Given the description of an element on the screen output the (x, y) to click on. 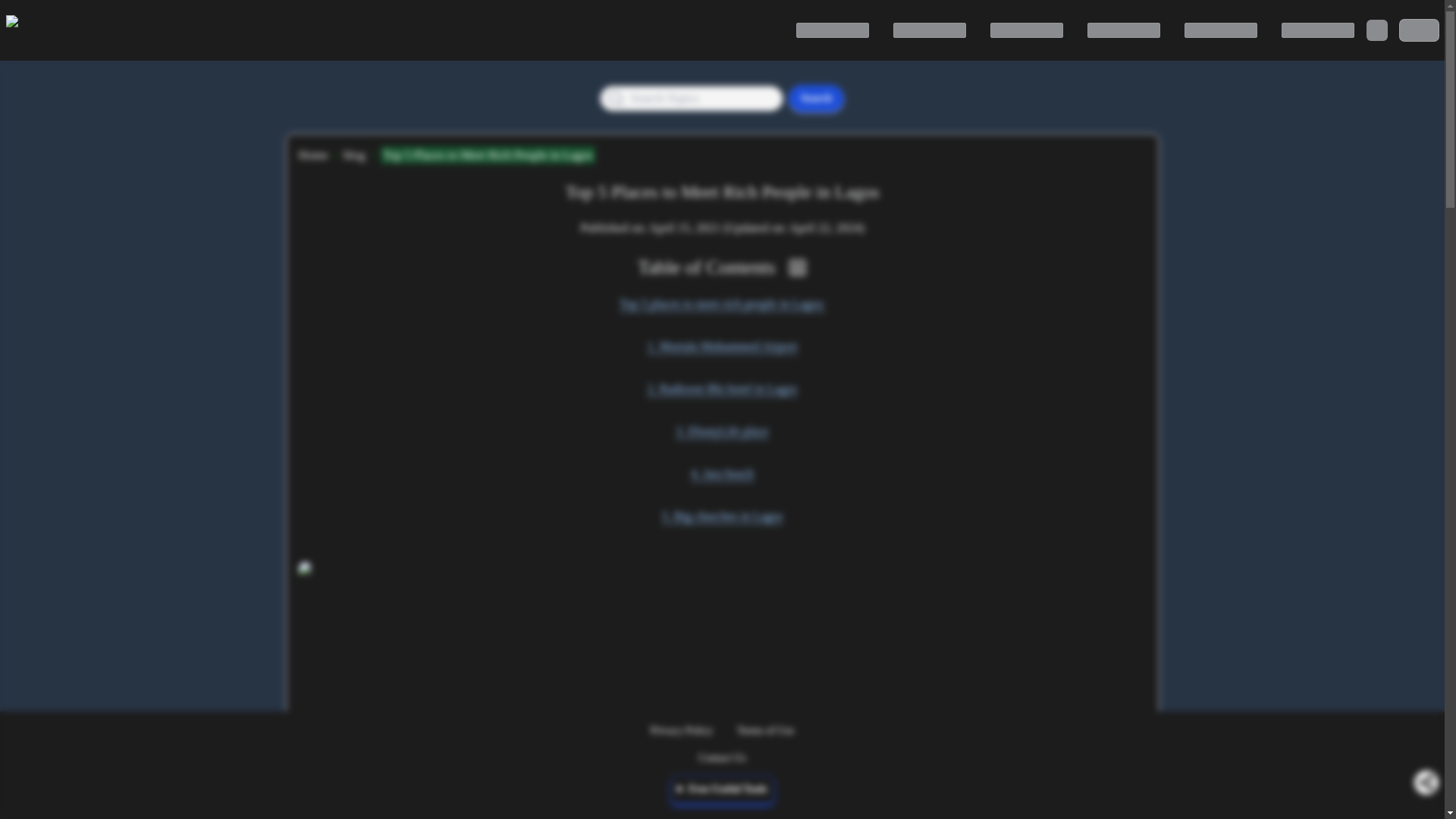
Top 5 places to meet rich people in Lagos: (722, 303)
blog (354, 154)
1. Murtala Muhammed Airport (721, 346)
4. Jara beach (722, 474)
3. EbonyLife place (721, 431)
Contact Us (721, 758)
2. Radisson Blu hotel in Lagos (721, 389)
Search (816, 98)
Terms of Use (764, 730)
Privacy Policy (681, 730)
